Given the description of an element on the screen output the (x, y) to click on. 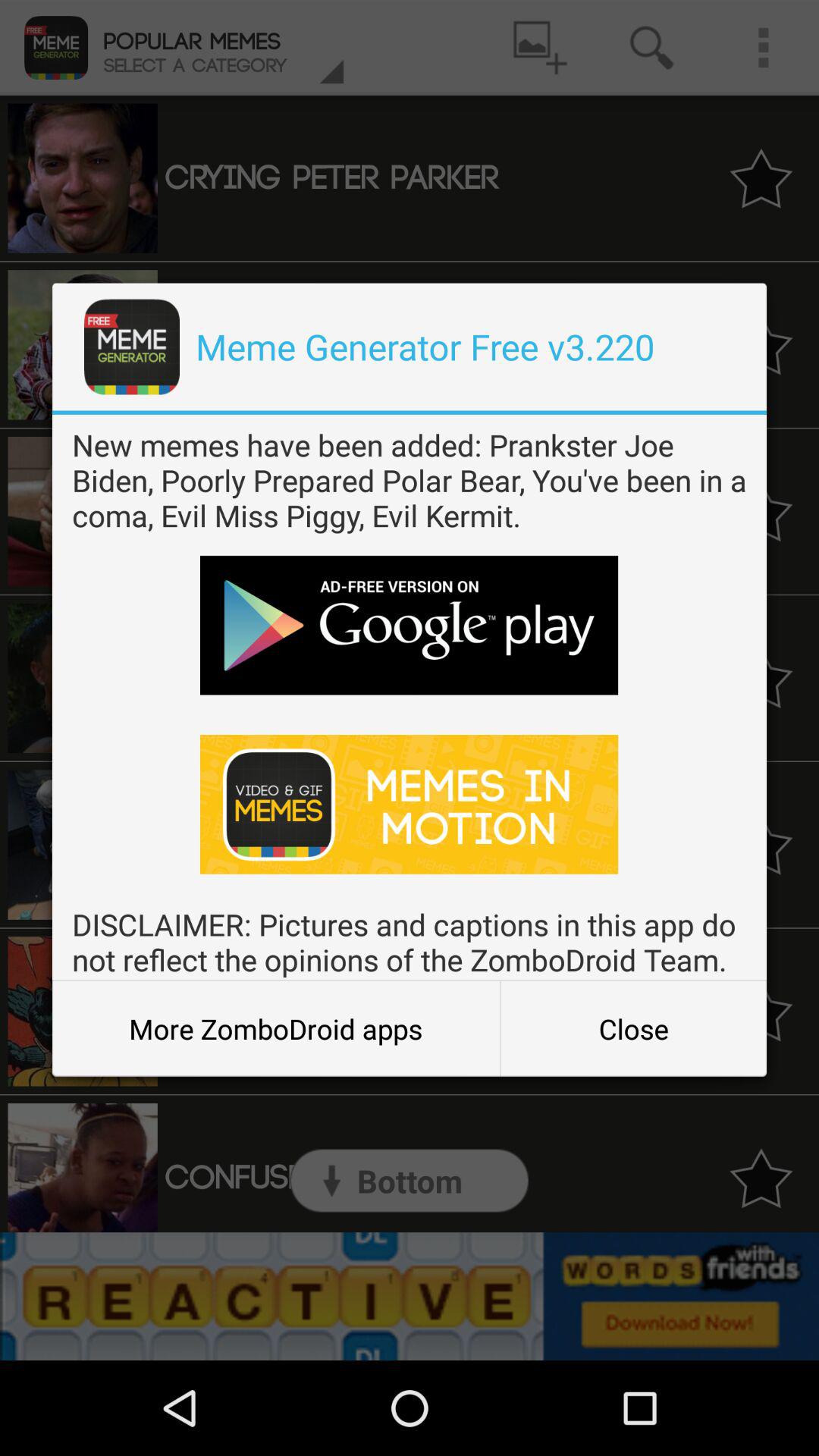
choose the icon next to more zombodroid apps icon (633, 1028)
